Given the description of an element on the screen output the (x, y) to click on. 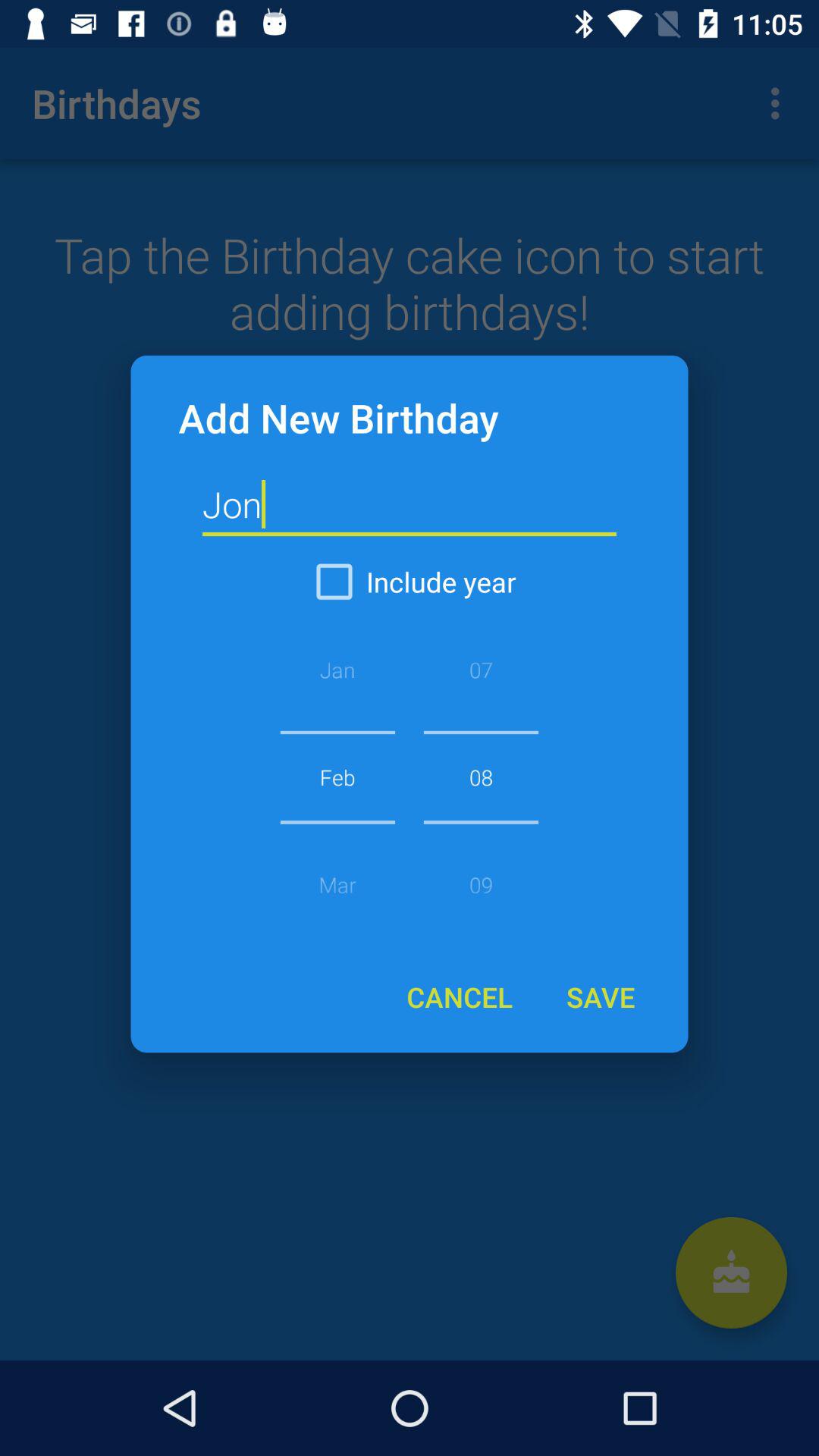
launch the save icon (600, 996)
